Given the description of an element on the screen output the (x, y) to click on. 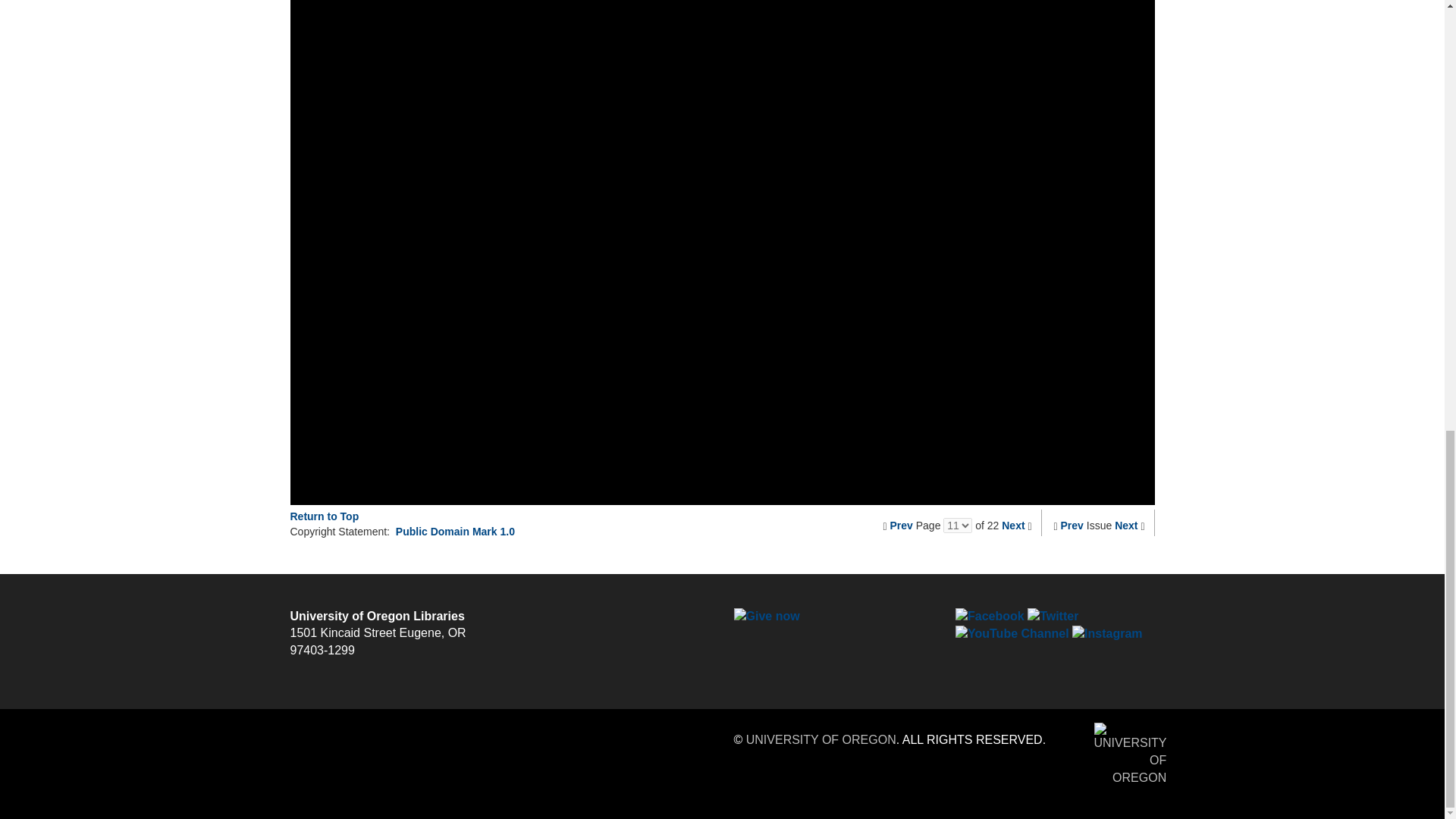
Prev (1072, 525)
Next (1013, 525)
Public Domain Mark 1.0 (455, 531)
Return to Top (323, 516)
Next (1126, 525)
Prev (900, 525)
